Given the description of an element on the screen output the (x, y) to click on. 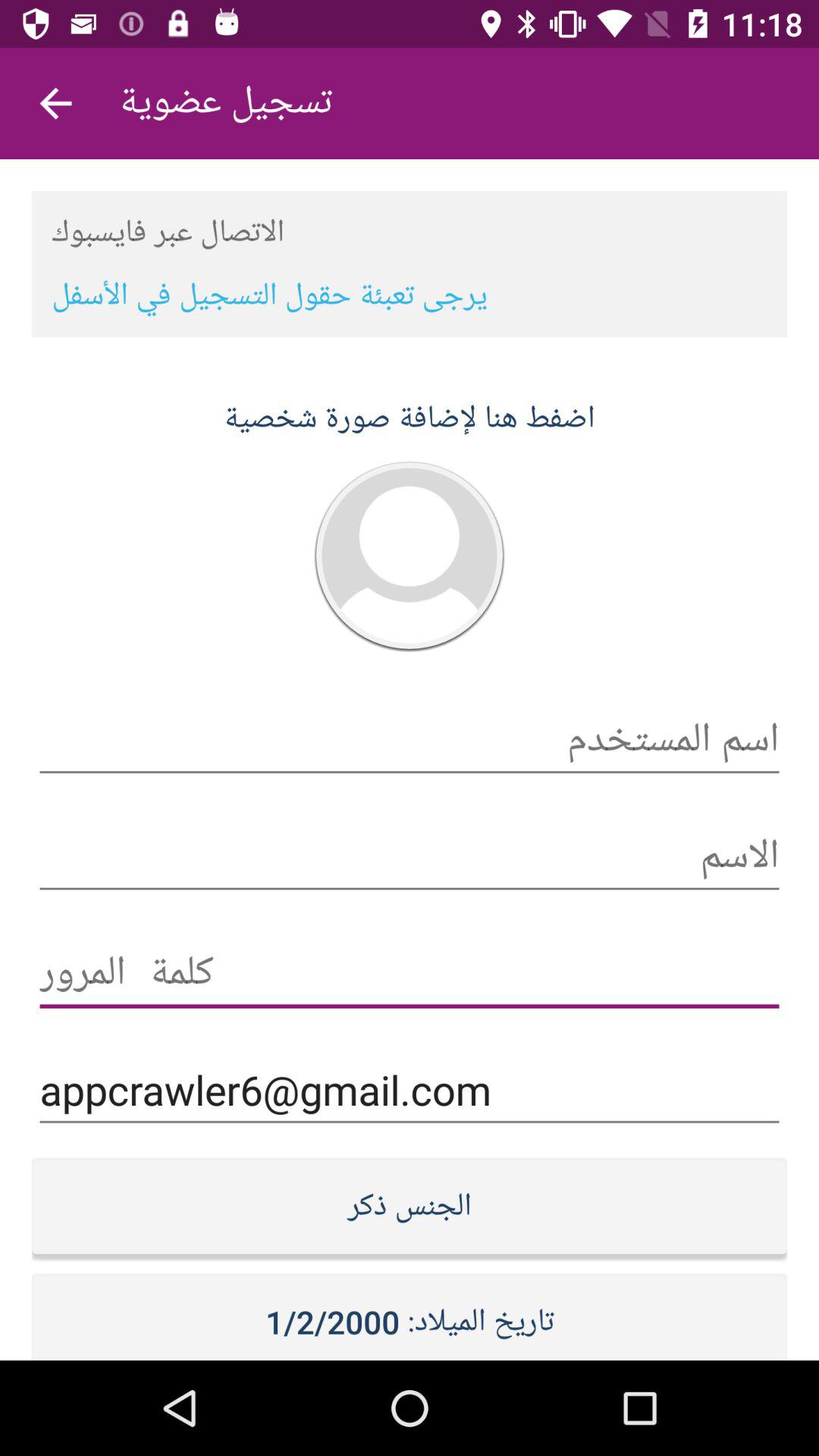
swipe to appcrawler6@gmail.com icon (409, 1089)
